Given the description of an element on the screen output the (x, y) to click on. 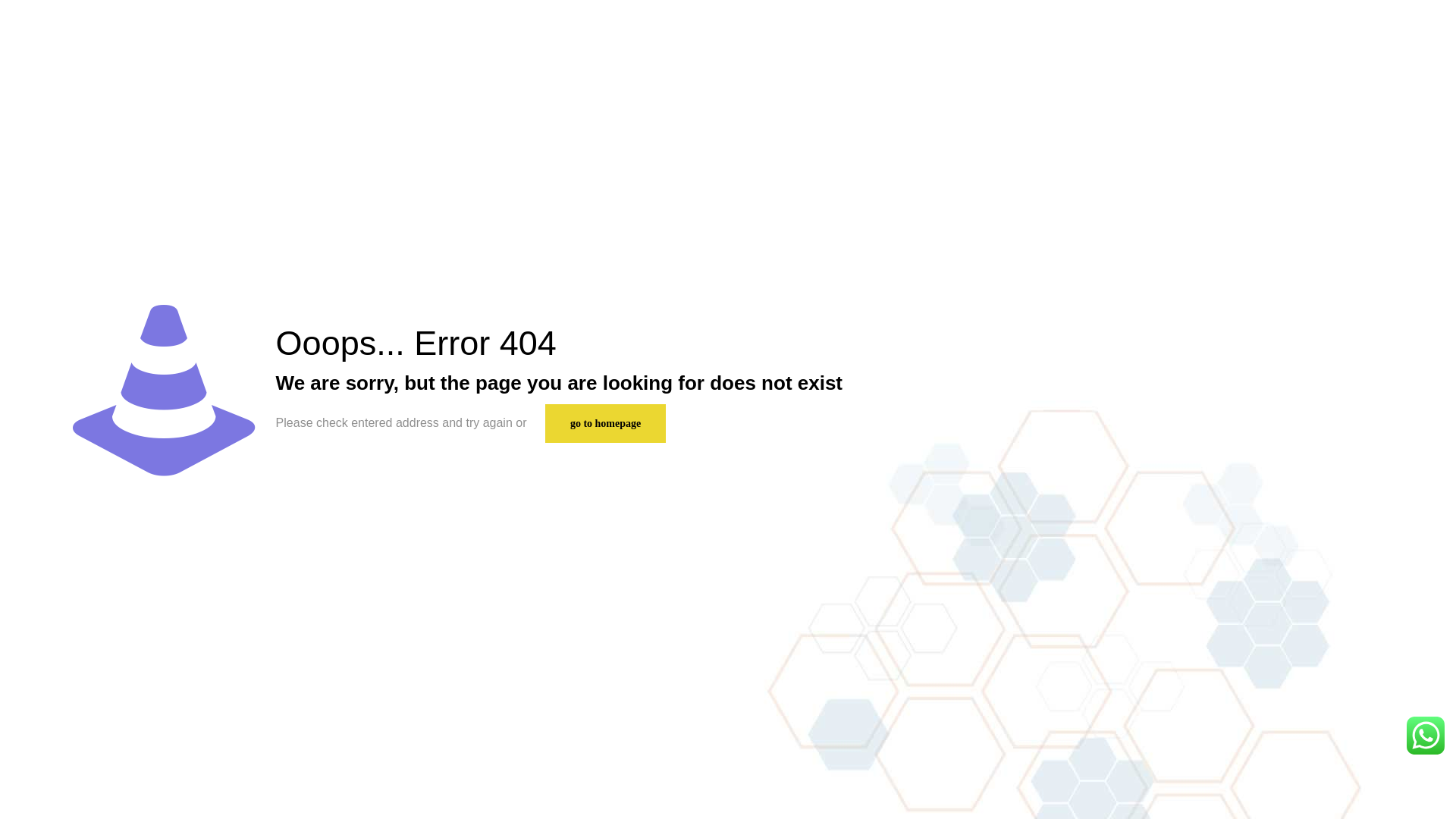
go to homepage Element type: text (605, 423)
